Given the description of an element on the screen output the (x, y) to click on. 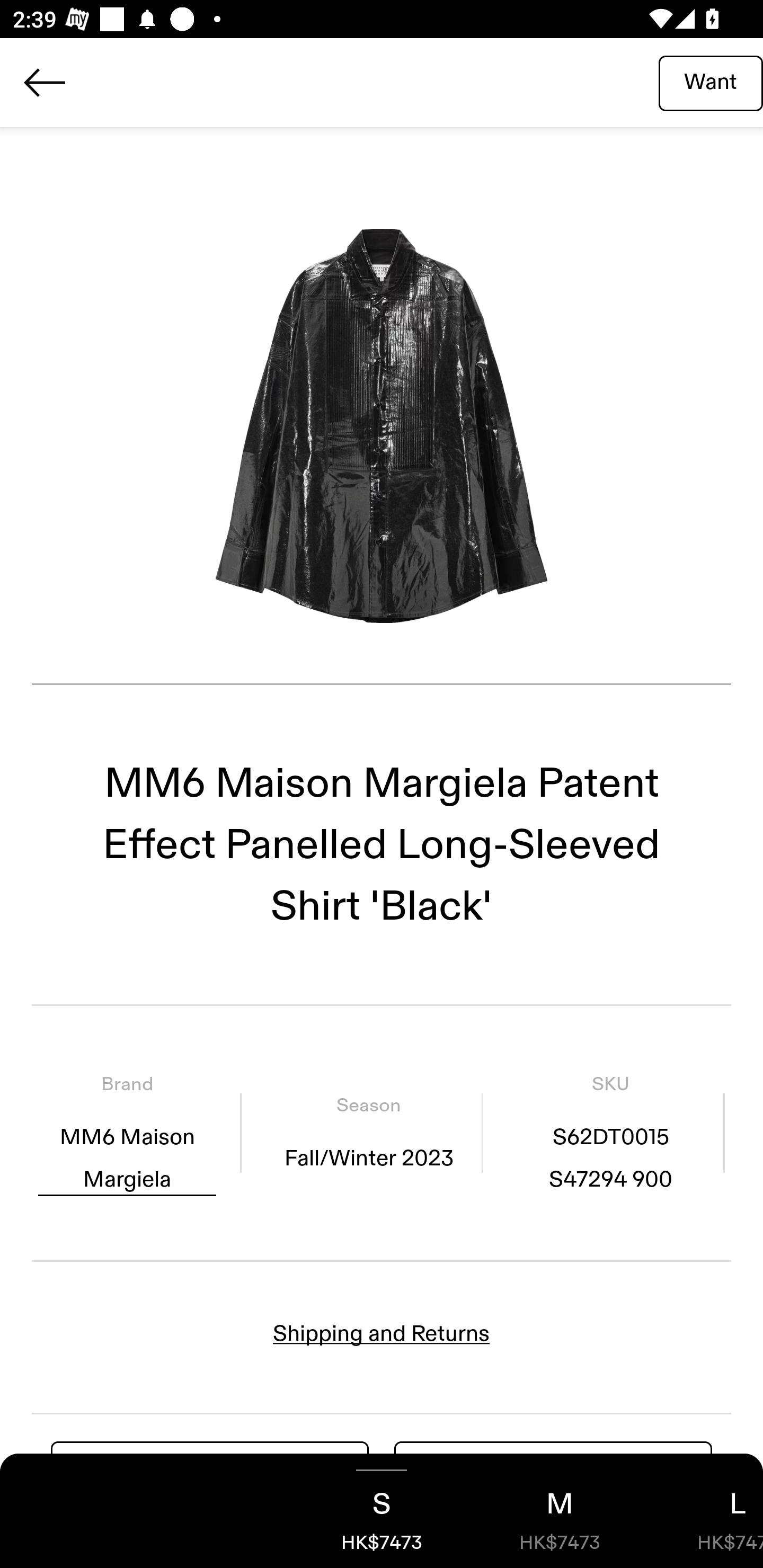
Want (710, 82)
Brand MM6 Maison Margiela (126, 1133)
Season Fall/Winter 2023 (368, 1133)
SKU S62DT0015 S47294 900 (609, 1133)
Shipping and Returns (381, 1333)
S HK$7473 (381, 1510)
M HK$7473 (559, 1510)
L HK$7473 (705, 1510)
